Given the description of an element on the screen output the (x, y) to click on. 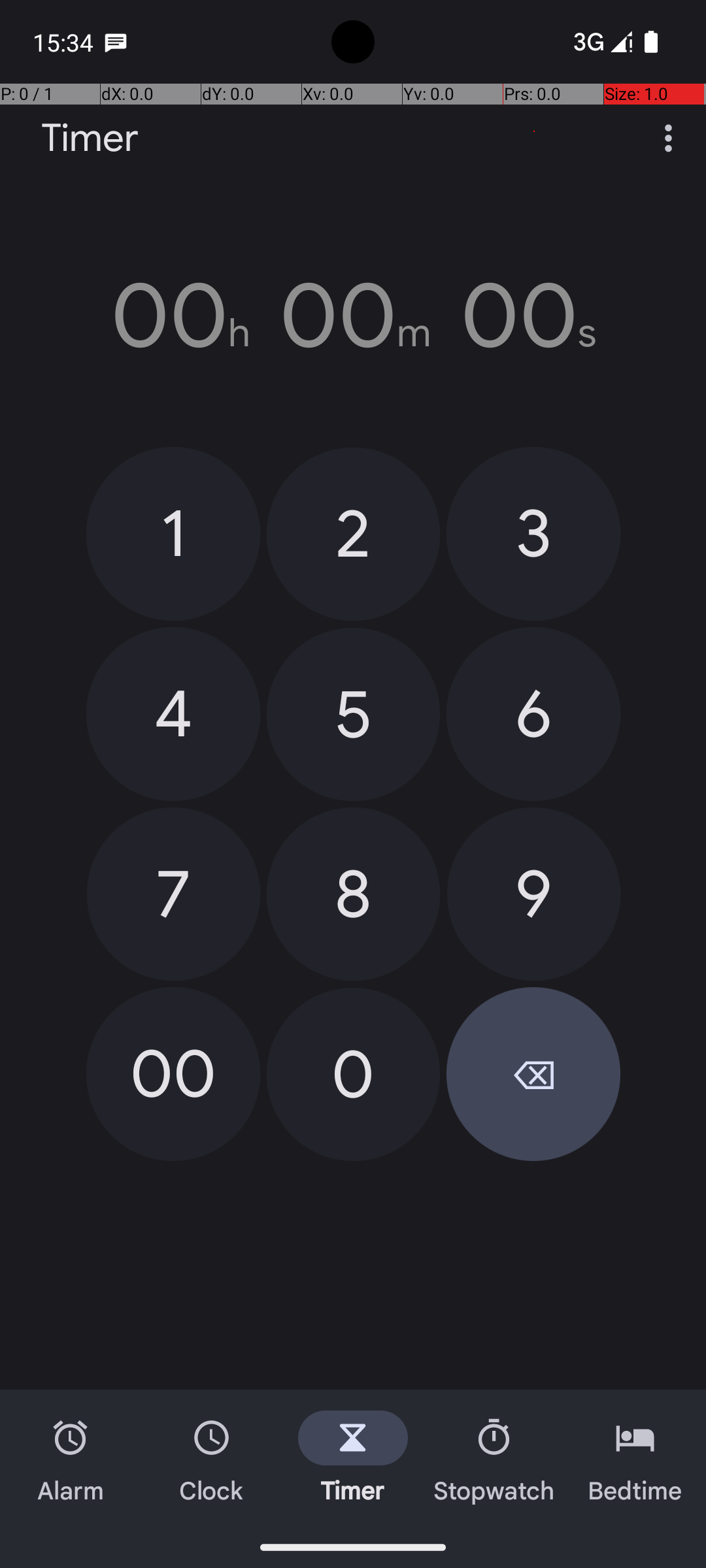
SMS Messenger notification: Freya Hernandez Element type: android.widget.ImageView (115, 41)
